Given the description of an element on the screen output the (x, y) to click on. 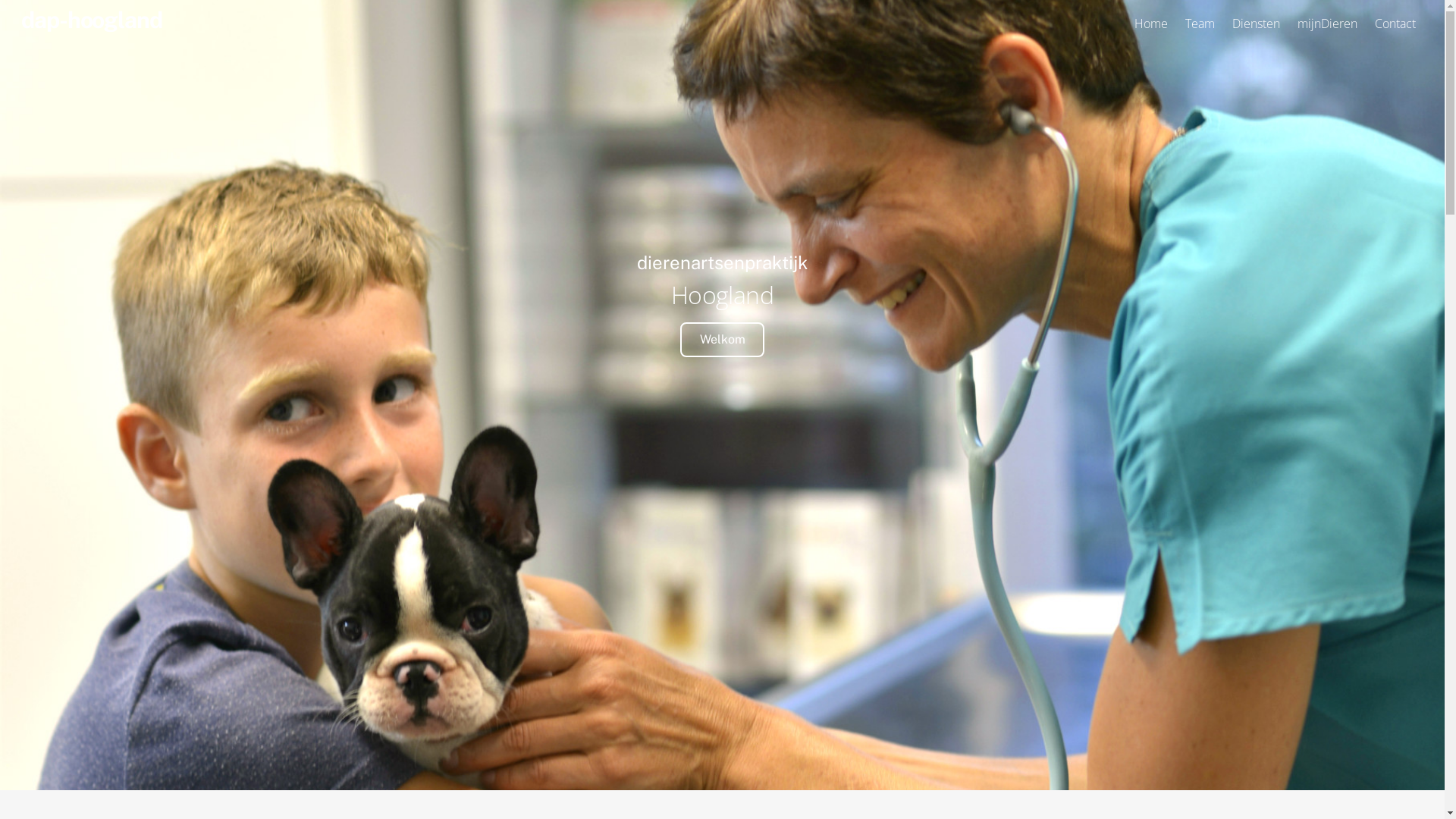
Diensten Element type: text (1255, 23)
Home Element type: text (1150, 23)
Contact Element type: text (1395, 23)
dap-hoogland Element type: text (91, 19)
mijnDieren Element type: text (1327, 23)
Welkom Element type: text (721, 339)
Team Element type: text (1199, 23)
